Given the description of an element on the screen output the (x, y) to click on. 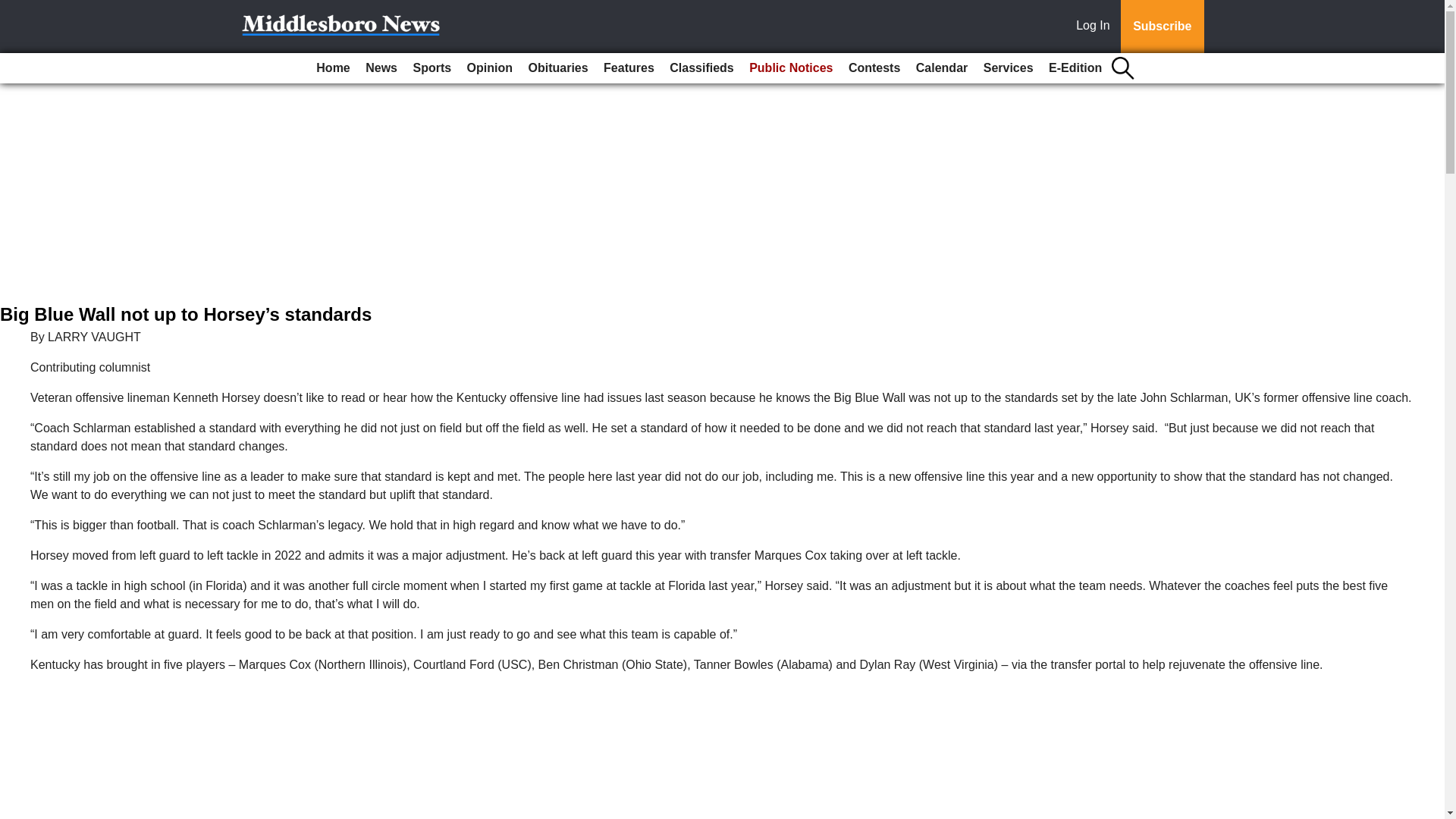
Contests (874, 68)
Features (628, 68)
Home (332, 68)
Opinion (489, 68)
Sports (431, 68)
Go (13, 9)
Subscribe (1162, 26)
Public Notices (790, 68)
Log In (1095, 26)
News (381, 68)
Classifieds (701, 68)
Services (1007, 68)
E-Edition (1075, 68)
Obituaries (557, 68)
Calendar (942, 68)
